Given the description of an element on the screen output the (x, y) to click on. 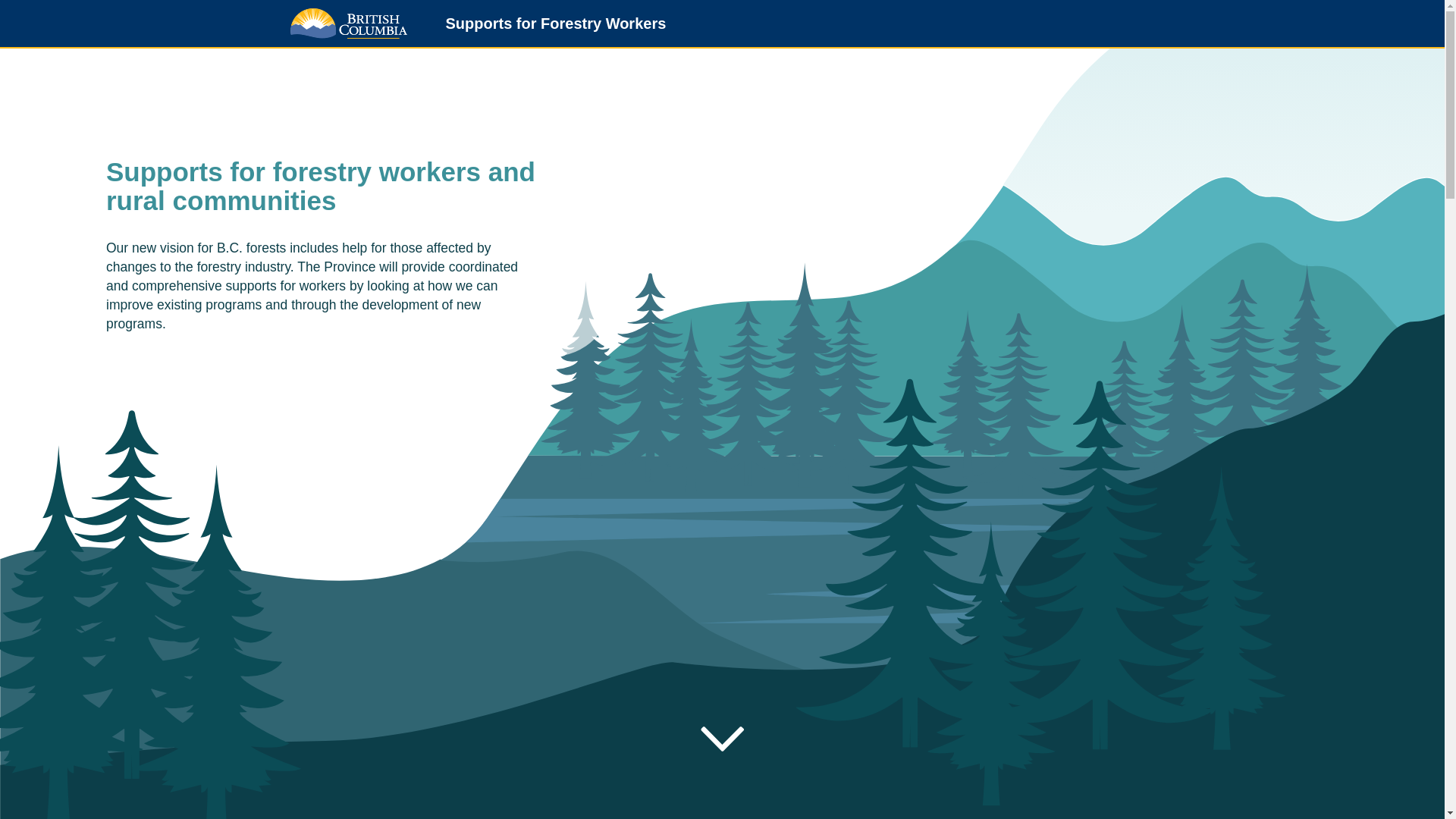
Supports for Forestry Workers Element type: text (549, 25)
